Given the description of an element on the screen output the (x, y) to click on. 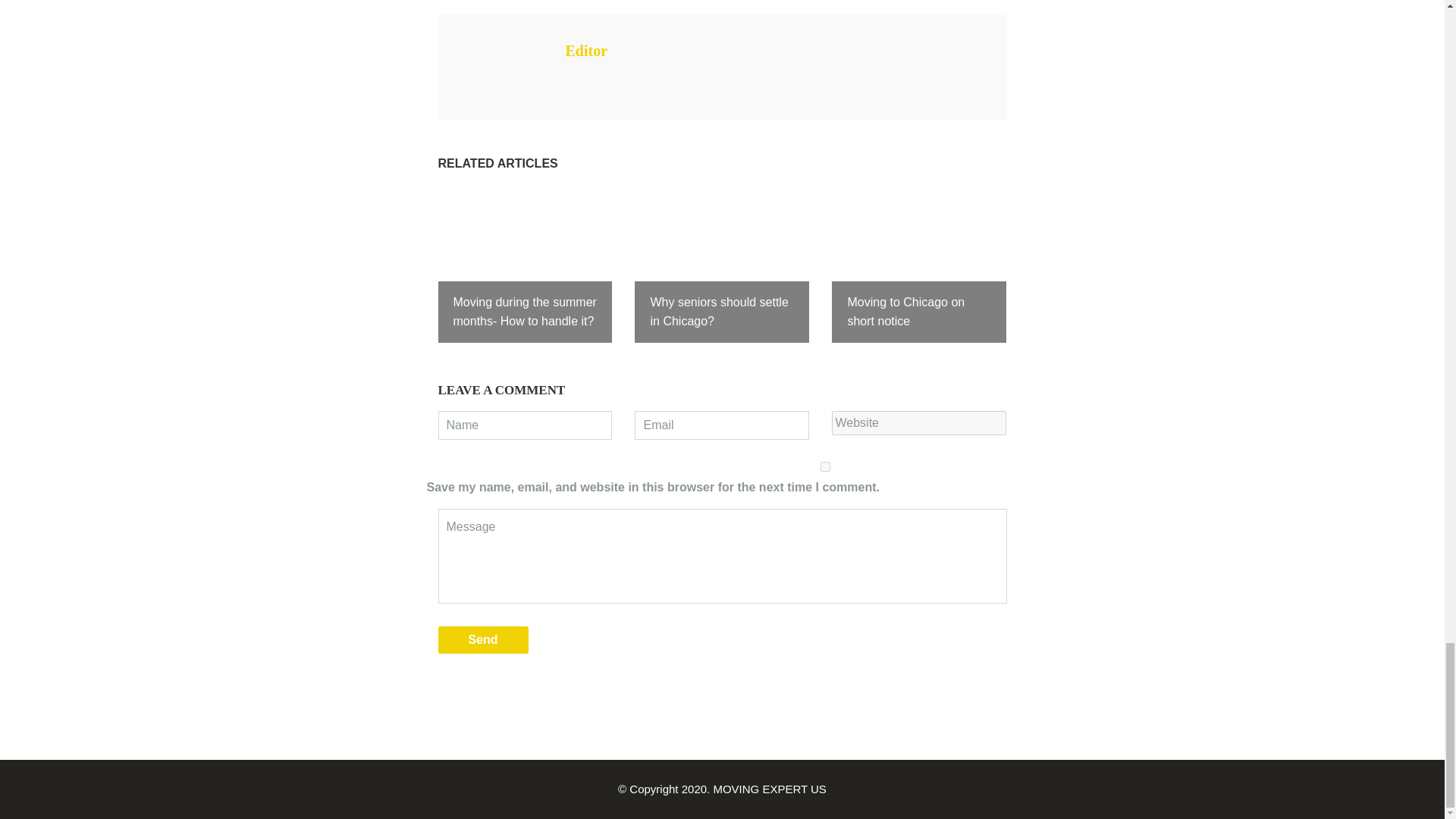
Send (483, 639)
Why seniors should settle in Chicago? (721, 266)
Moving during the summer months- How to handle it? (525, 266)
Moving during the summer months- How to handle it? (525, 266)
Moving to Chicago on short notice (918, 266)
yes (825, 466)
Send (483, 639)
Why seniors should settle in Chicago? (721, 266)
Moving to Chicago on short notice (918, 266)
